Given the description of an element on the screen output the (x, y) to click on. 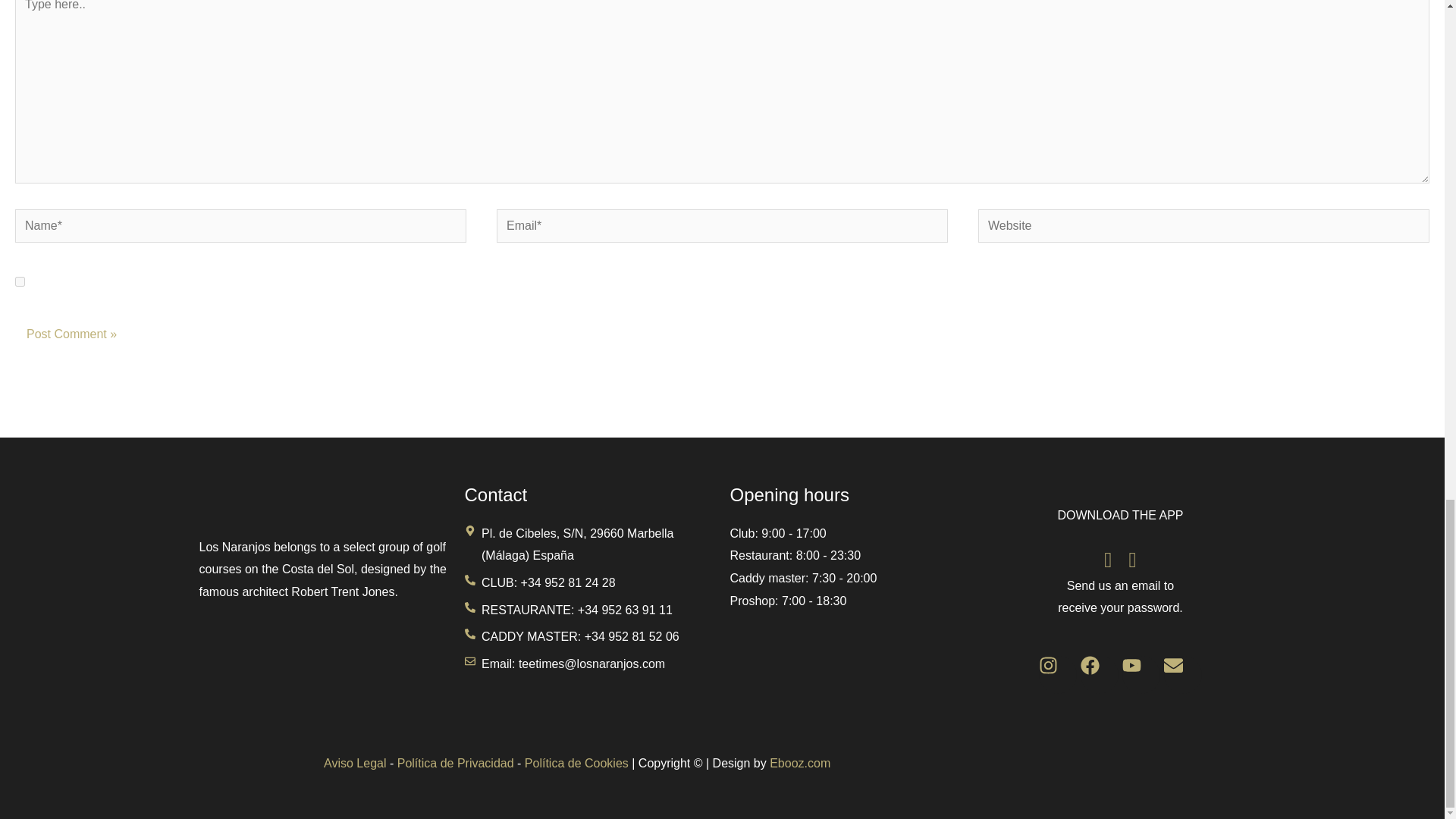
yes (19, 281)
